Given the description of an element on the screen output the (x, y) to click on. 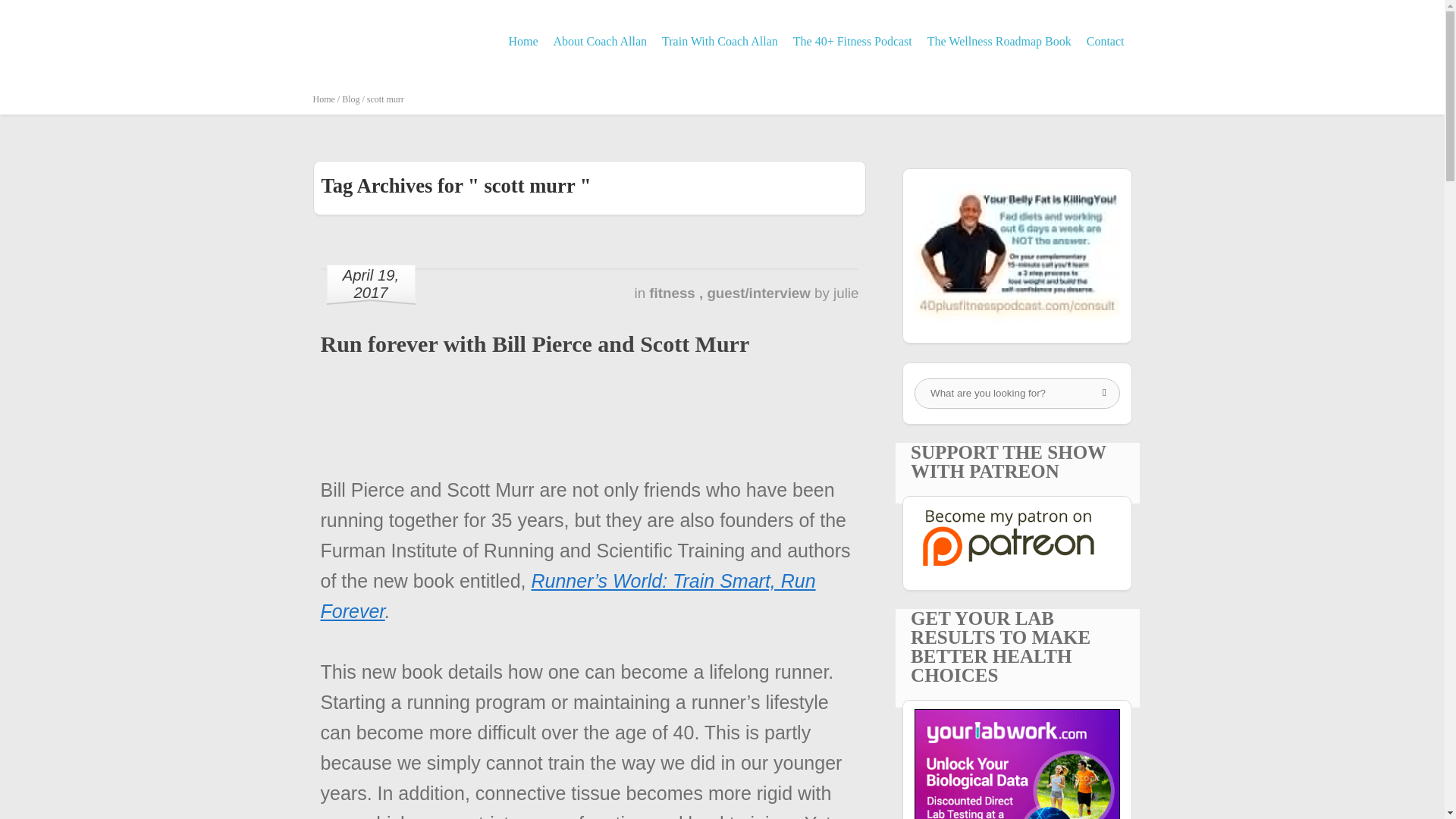
About Coach Allan (600, 41)
Home (522, 41)
fitness (673, 293)
Run forever with Bill Pierce and Scott Murr (534, 343)
Train With Coach Allan (719, 41)
Contact (1105, 41)
The Wellness Roadmap Book (999, 41)
julie (845, 293)
